Given the description of an element on the screen output the (x, y) to click on. 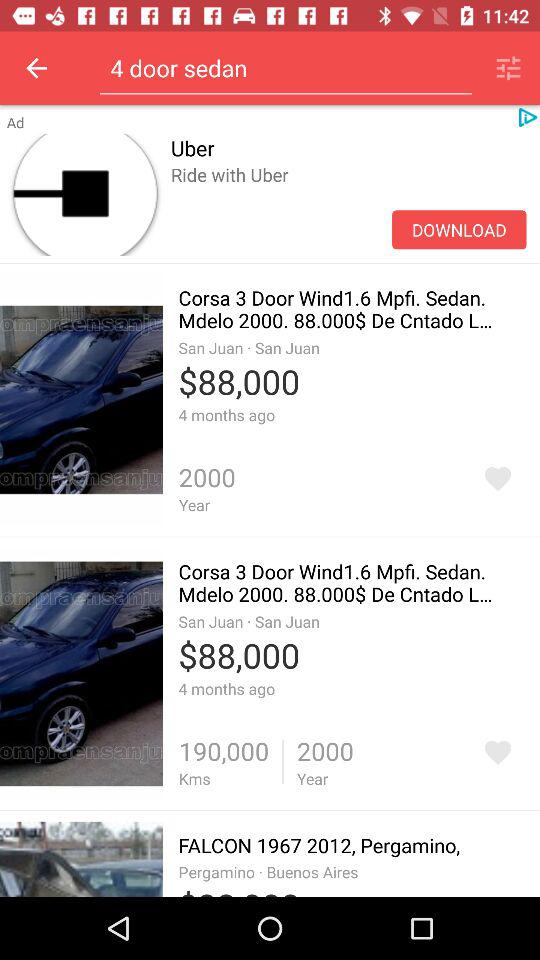
turn on icon above corsa 3 door item (459, 229)
